Given the description of an element on the screen output the (x, y) to click on. 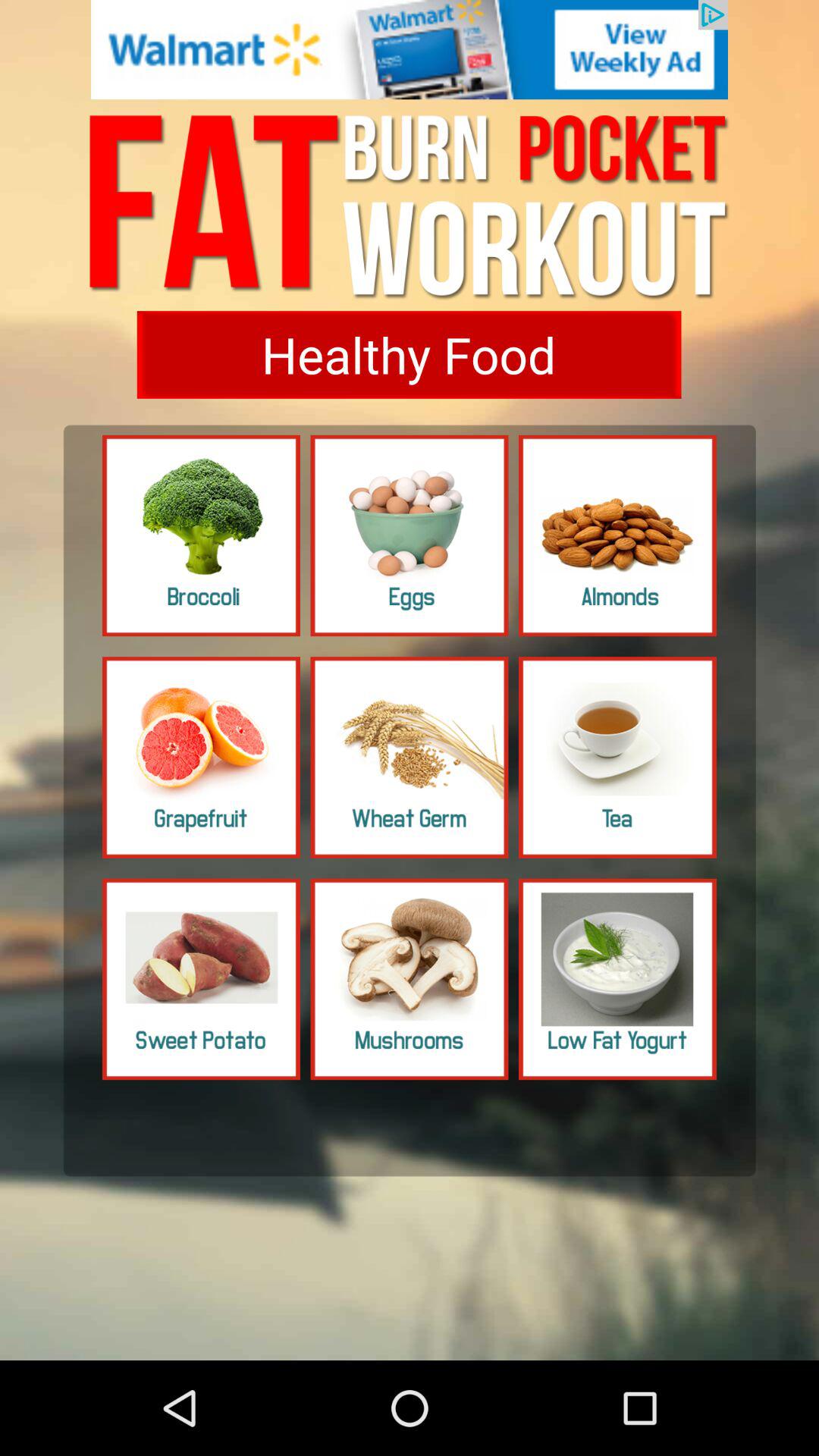
choose mushroom (409, 979)
